Given the description of an element on the screen output the (x, y) to click on. 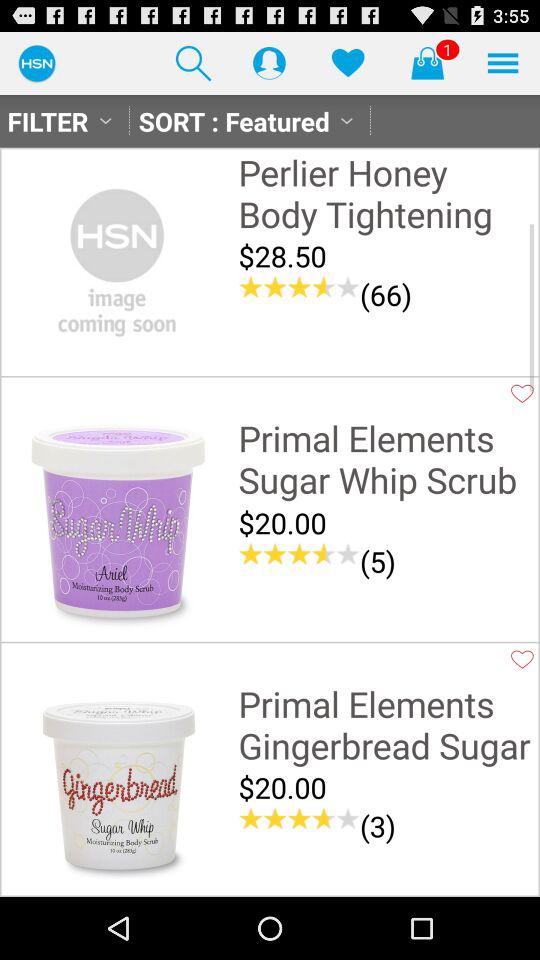
open the item to the right of the filter icon (193, 62)
